Given the description of an element on the screen output the (x, y) to click on. 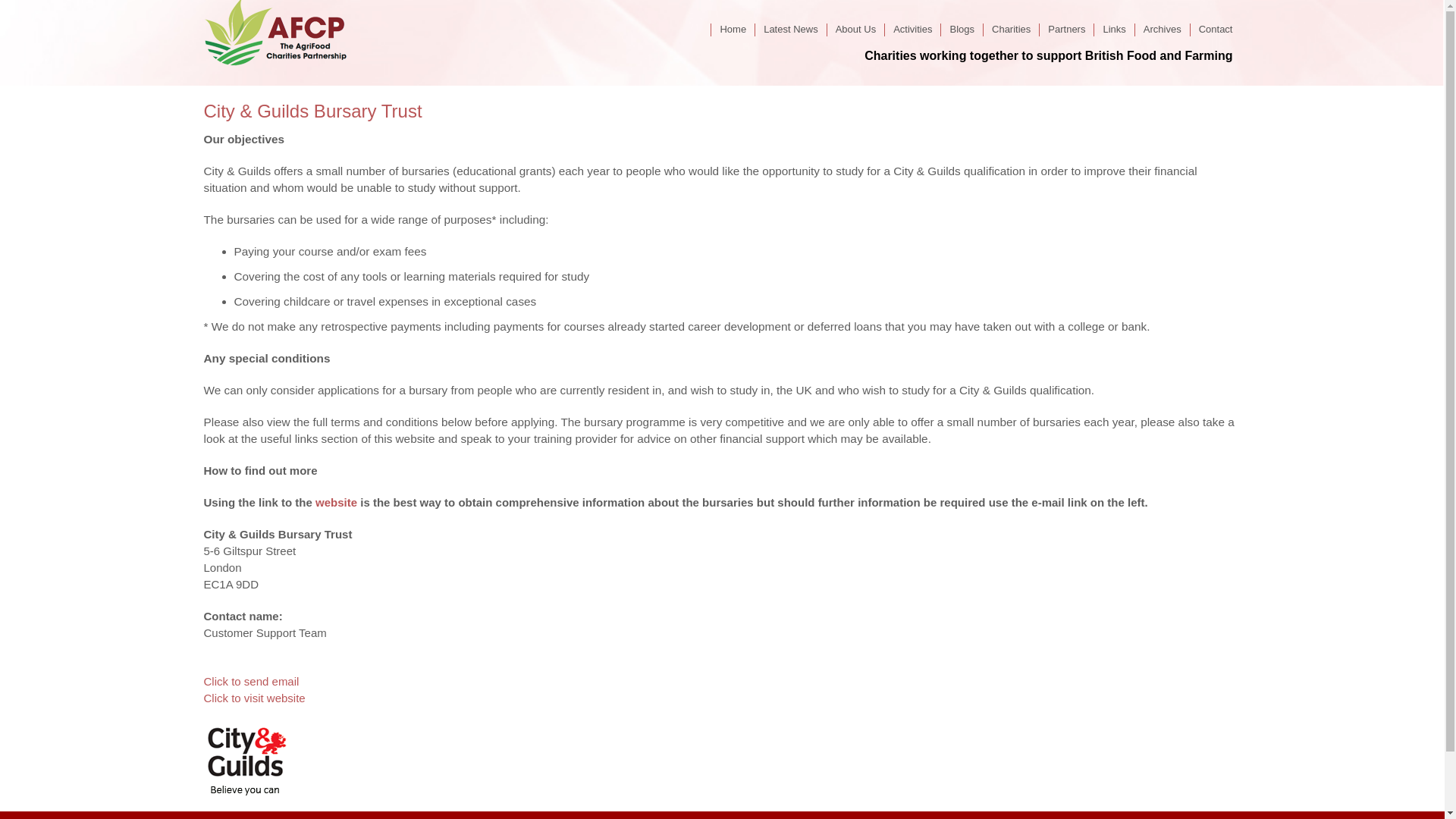
Links (1113, 28)
Archives (1161, 28)
Home (732, 28)
Blogs (961, 28)
Charities (1010, 28)
Partners (1066, 28)
Contact (1215, 28)
Activities (911, 28)
website (335, 502)
Latest News (790, 28)
Blogs (961, 28)
Click to send email (250, 680)
Click to visit website (253, 697)
About Us (855, 28)
